Given the description of an element on the screen output the (x, y) to click on. 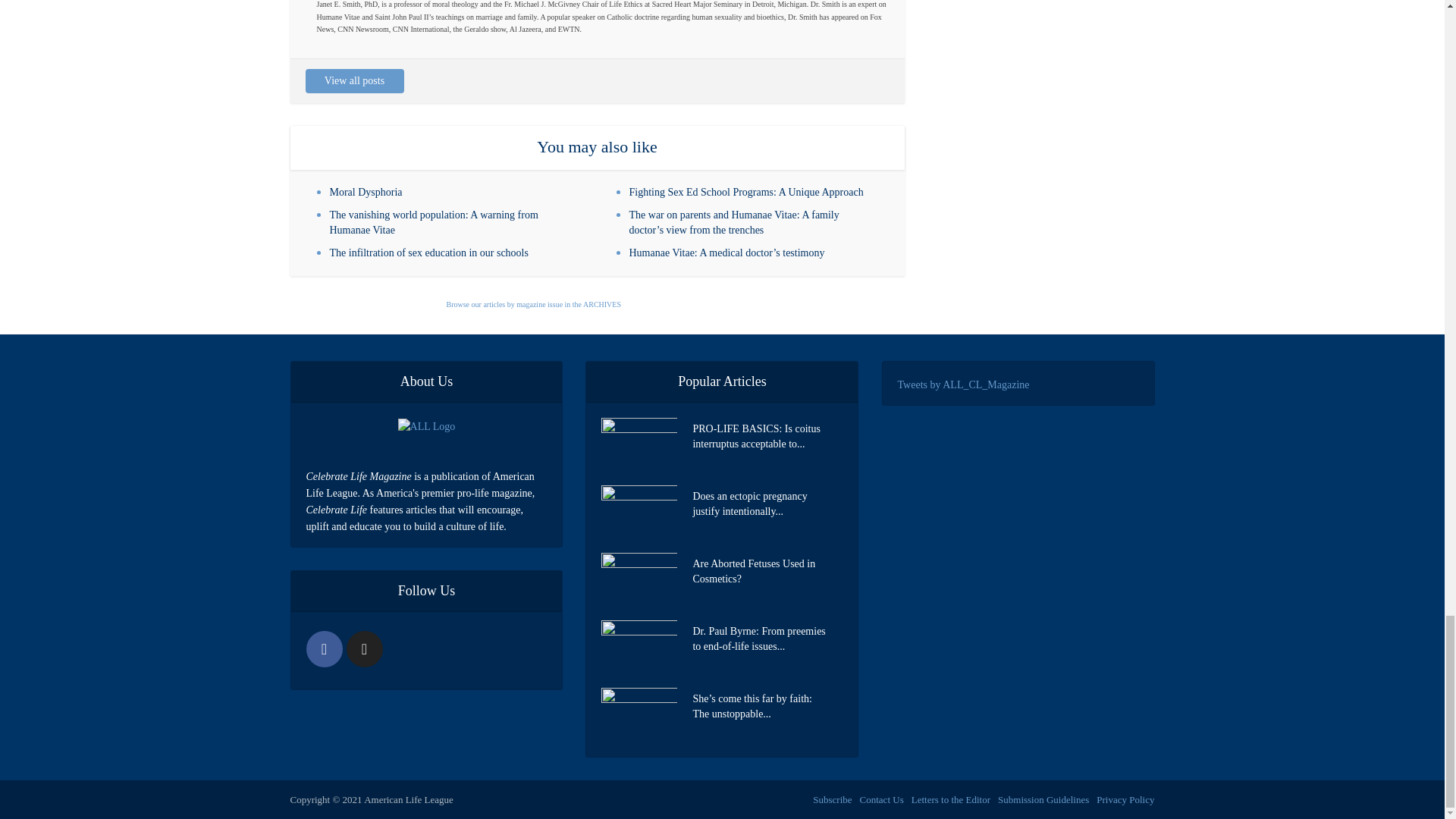
Moral Dysphoria (365, 192)
The infiltration of sex education in our schools (428, 252)
The vanishing world population: A warning from Humanae Vitae (433, 222)
Fighting Sex Ed School Programs: A Unique Approach (745, 192)
